Given the description of an element on the screen output the (x, y) to click on. 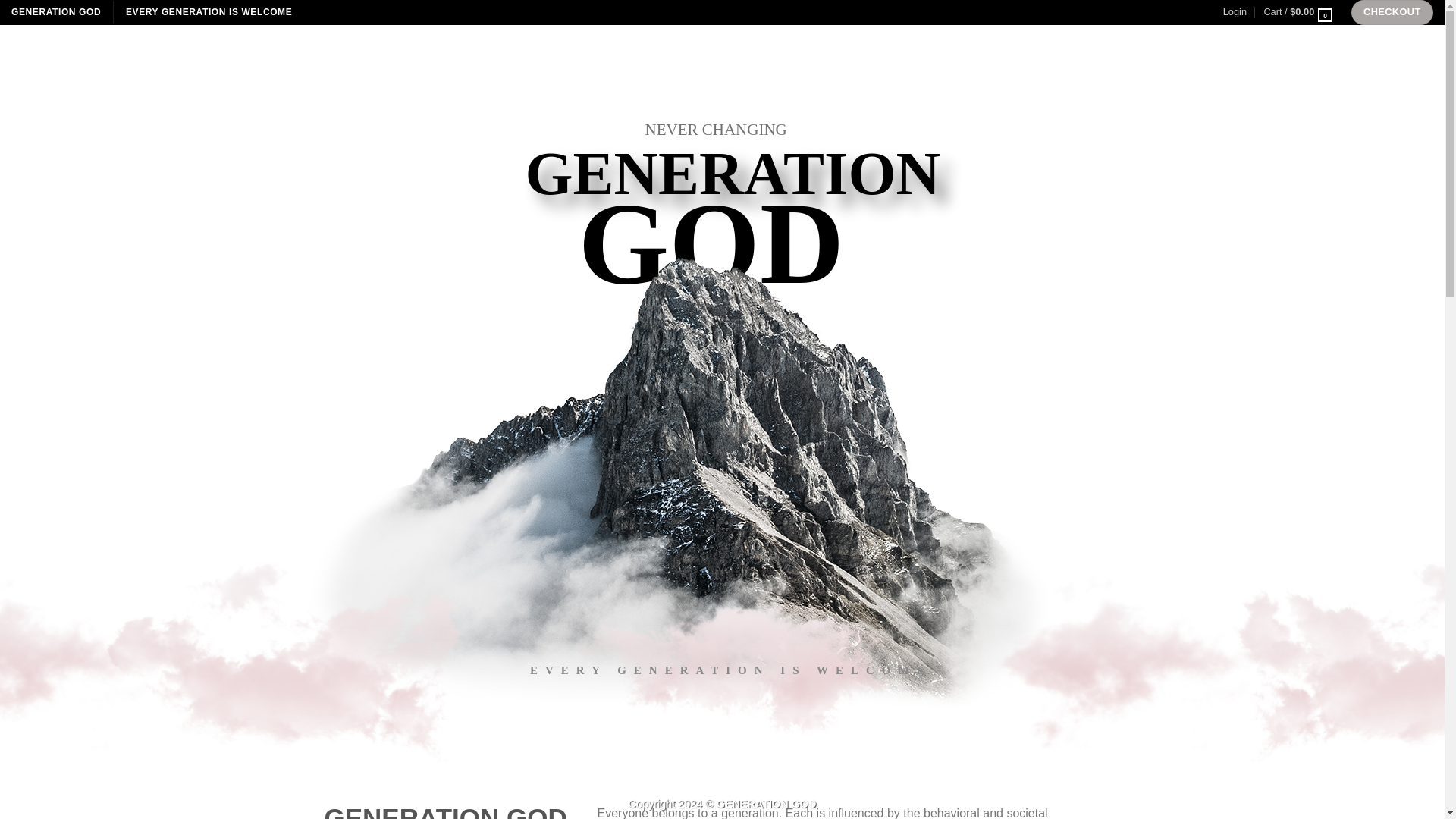
Login (1234, 12)
Login (1234, 12)
CHECKOUT (1391, 12)
Cart (1298, 12)
